Given the description of an element on the screen output the (x, y) to click on. 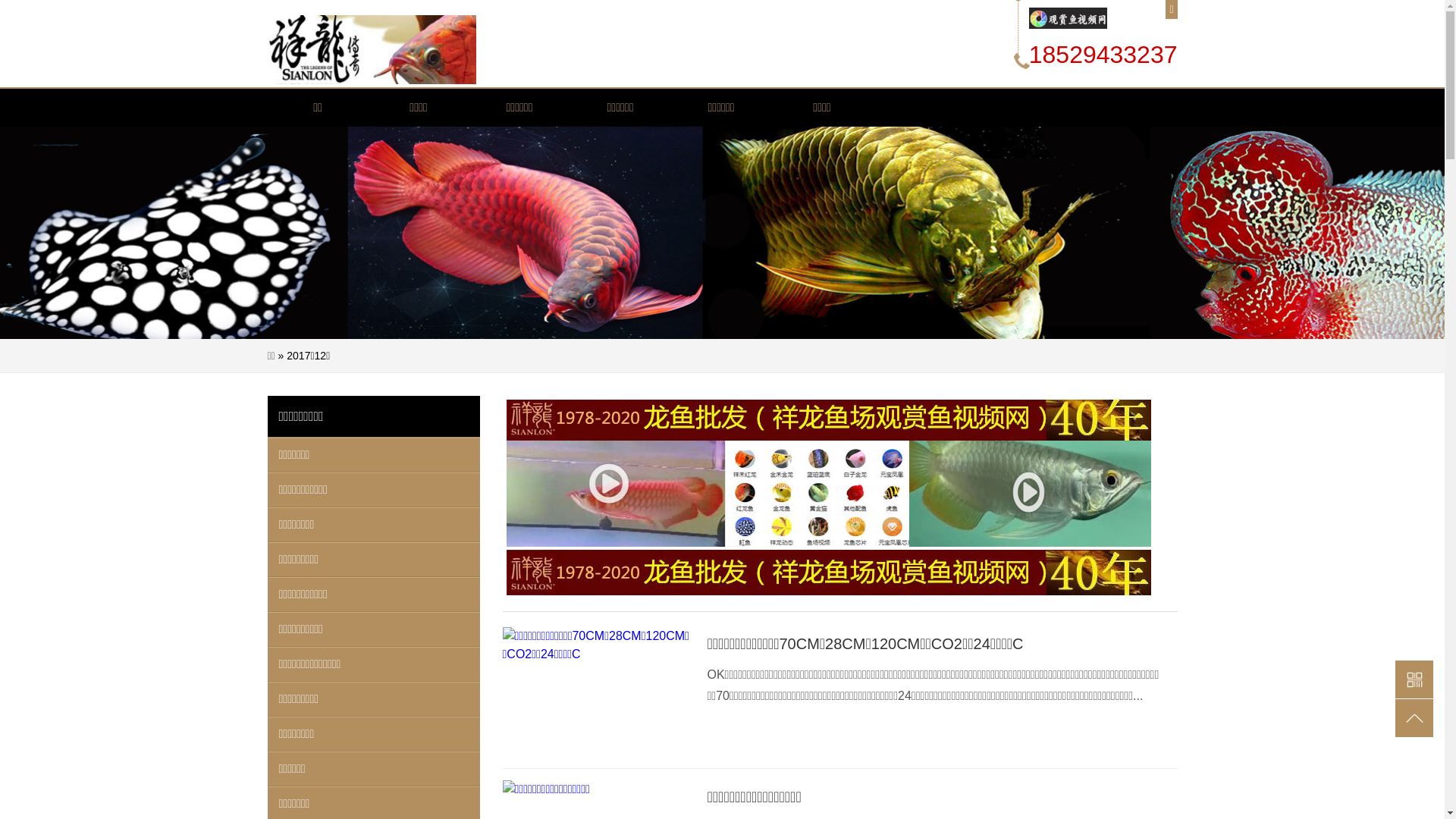
18529433237 Element type: text (1103, 54)
